Given the description of an element on the screen output the (x, y) to click on. 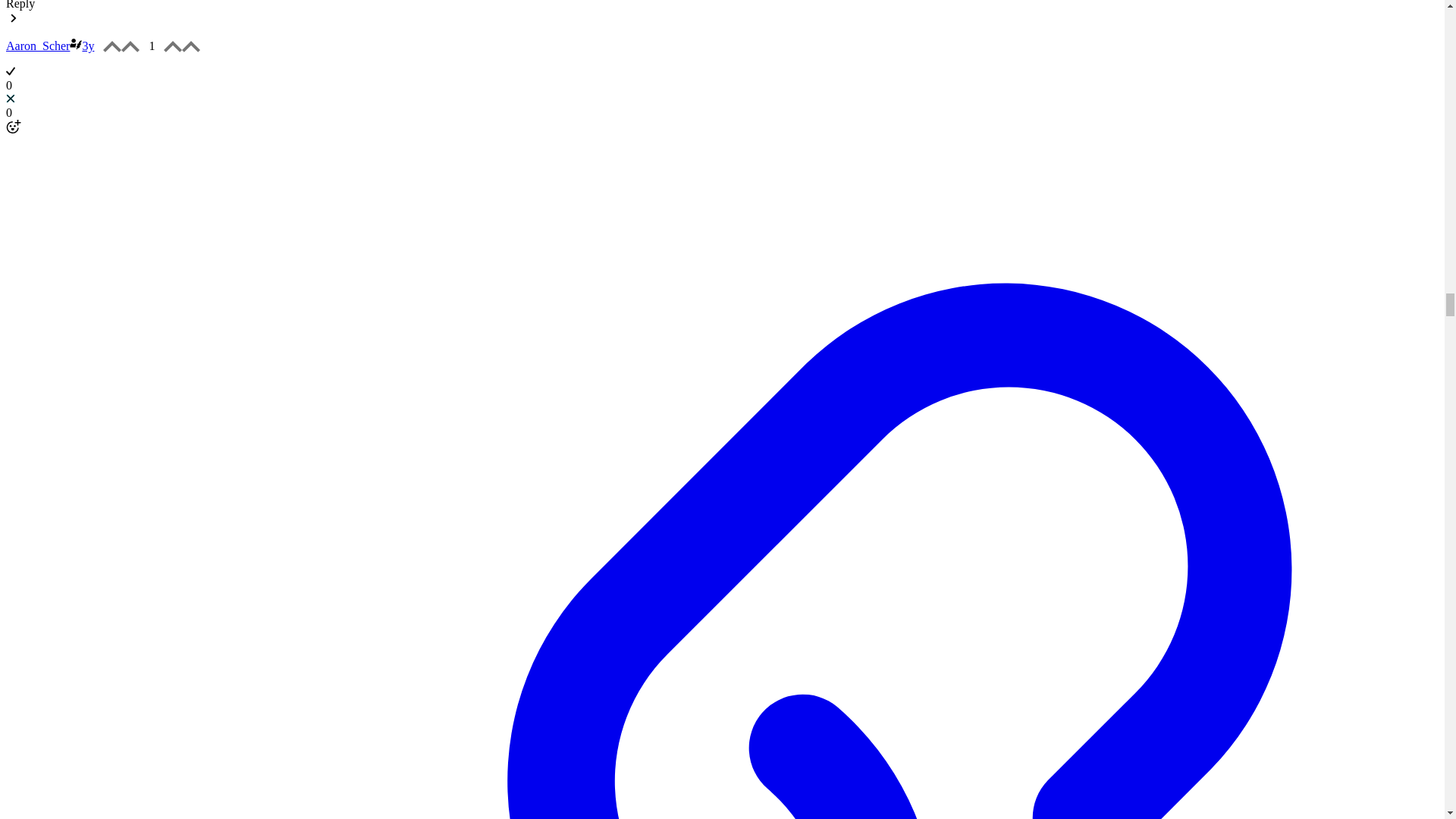
Reply (19, 4)
3y (87, 45)
